Given the description of an element on the screen output the (x, y) to click on. 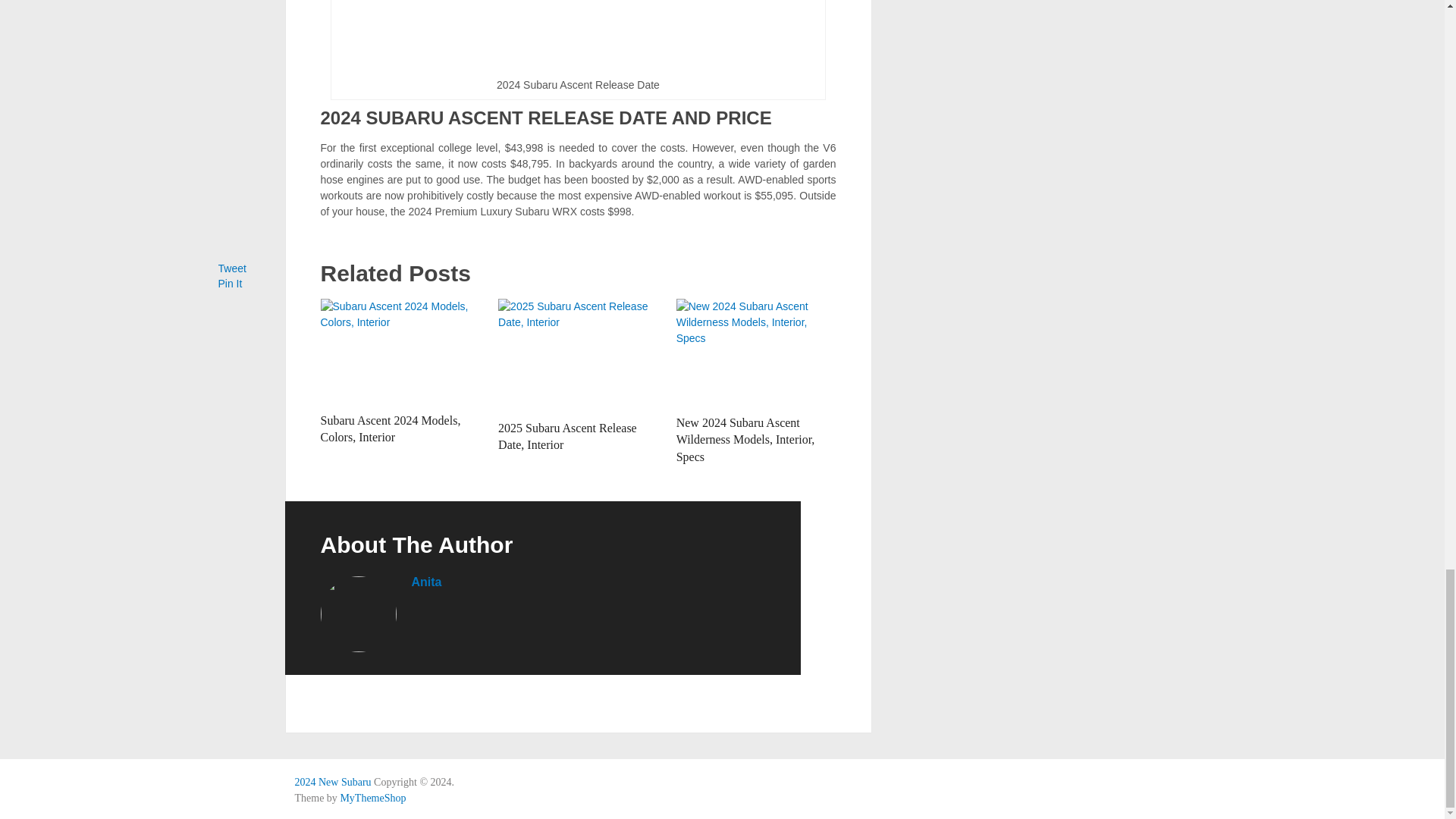
2025 Subaru Ascent Release Date, Interior (567, 436)
New 2024 Subaru Ascent Wilderness Models, Interior, Specs (746, 439)
2025 Subaru Ascent Release Date, Interior (567, 436)
Subaru Ascent 2024 Models, Colors, Interior (400, 351)
Subaru Ascent 2024 Models, Colors, Interior (390, 428)
Subaru Ascent 2024 Models, Colors, Interior (390, 428)
2025 Subaru Ascent Release Date, Interior (577, 355)
Anita (425, 581)
New 2024 Subaru Ascent Wilderness Models, Interior, Specs (746, 439)
New 2024 Subaru Ascent Wilderness Models, Interior, Specs (756, 352)
